Given the description of an element on the screen output the (x, y) to click on. 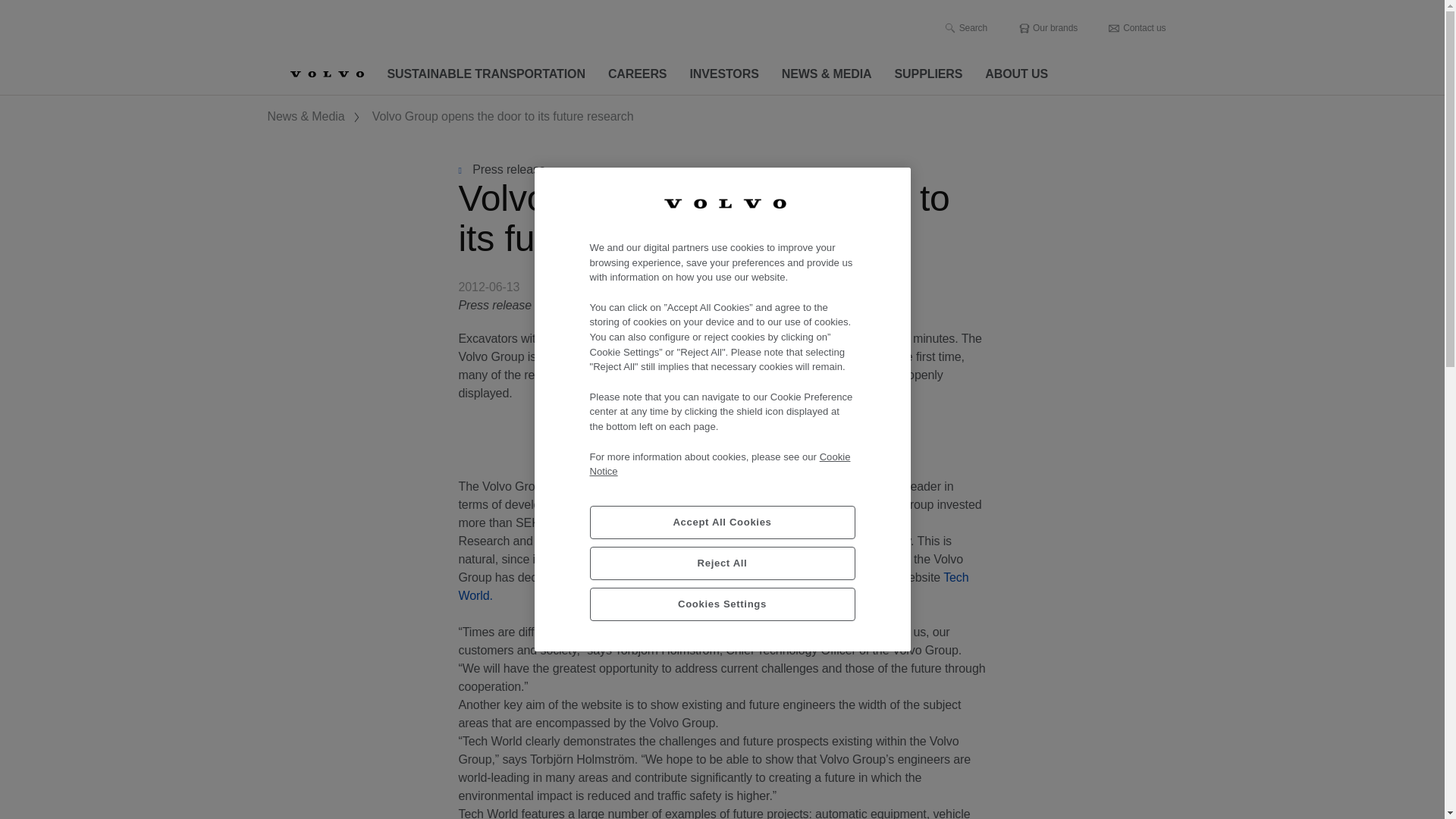
CAREERS (637, 74)
Our brands (1047, 28)
Investors (724, 74)
Contact us (1137, 28)
INVESTORS (724, 74)
SUSTAINABLE TRANSPORTATION (485, 74)
Sustainable Transportation (485, 74)
Careers (637, 74)
